Given the description of an element on the screen output the (x, y) to click on. 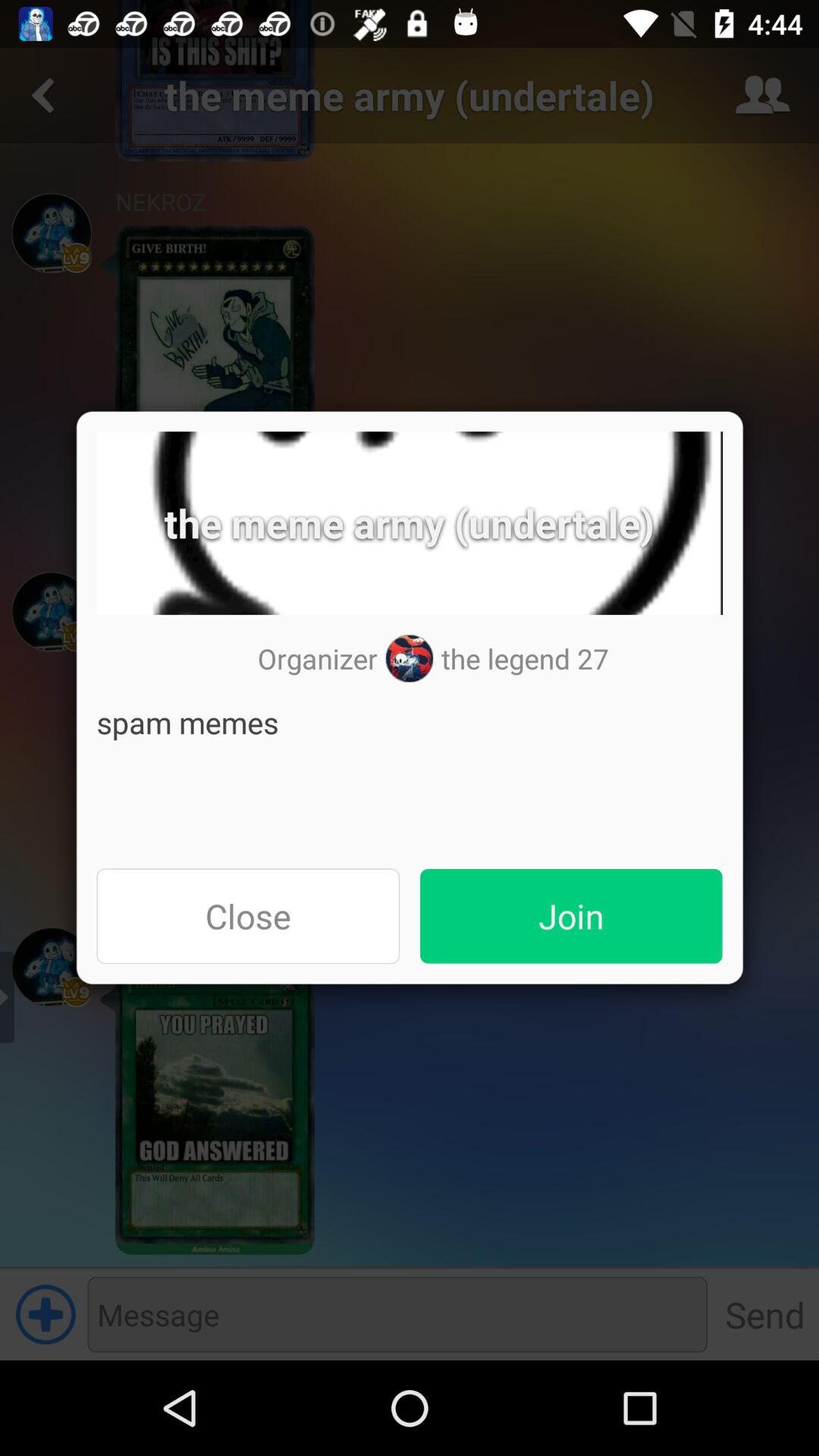
choose item next to close icon (570, 916)
